Given the description of an element on the screen output the (x, y) to click on. 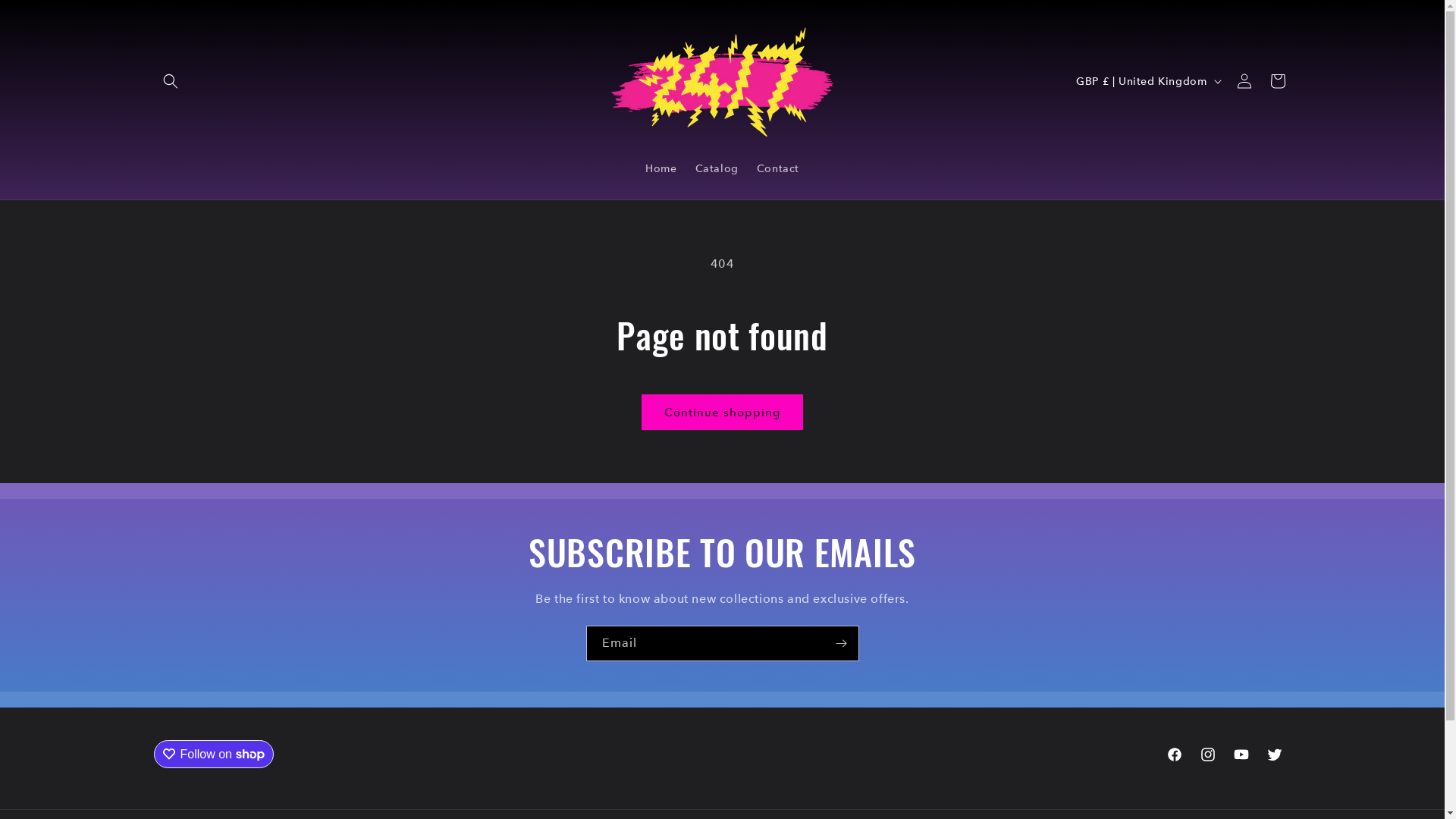
Cart Element type: text (1276, 80)
Home Element type: text (660, 167)
YouTube Element type: text (1240, 754)
Catalog Element type: text (715, 167)
Twitter Element type: text (1273, 754)
Facebook Element type: text (1173, 754)
Contact Element type: text (777, 167)
Continue shopping Element type: text (722, 411)
Log in Element type: text (1243, 80)
Instagram Element type: text (1206, 754)
